Given the description of an element on the screen output the (x, y) to click on. 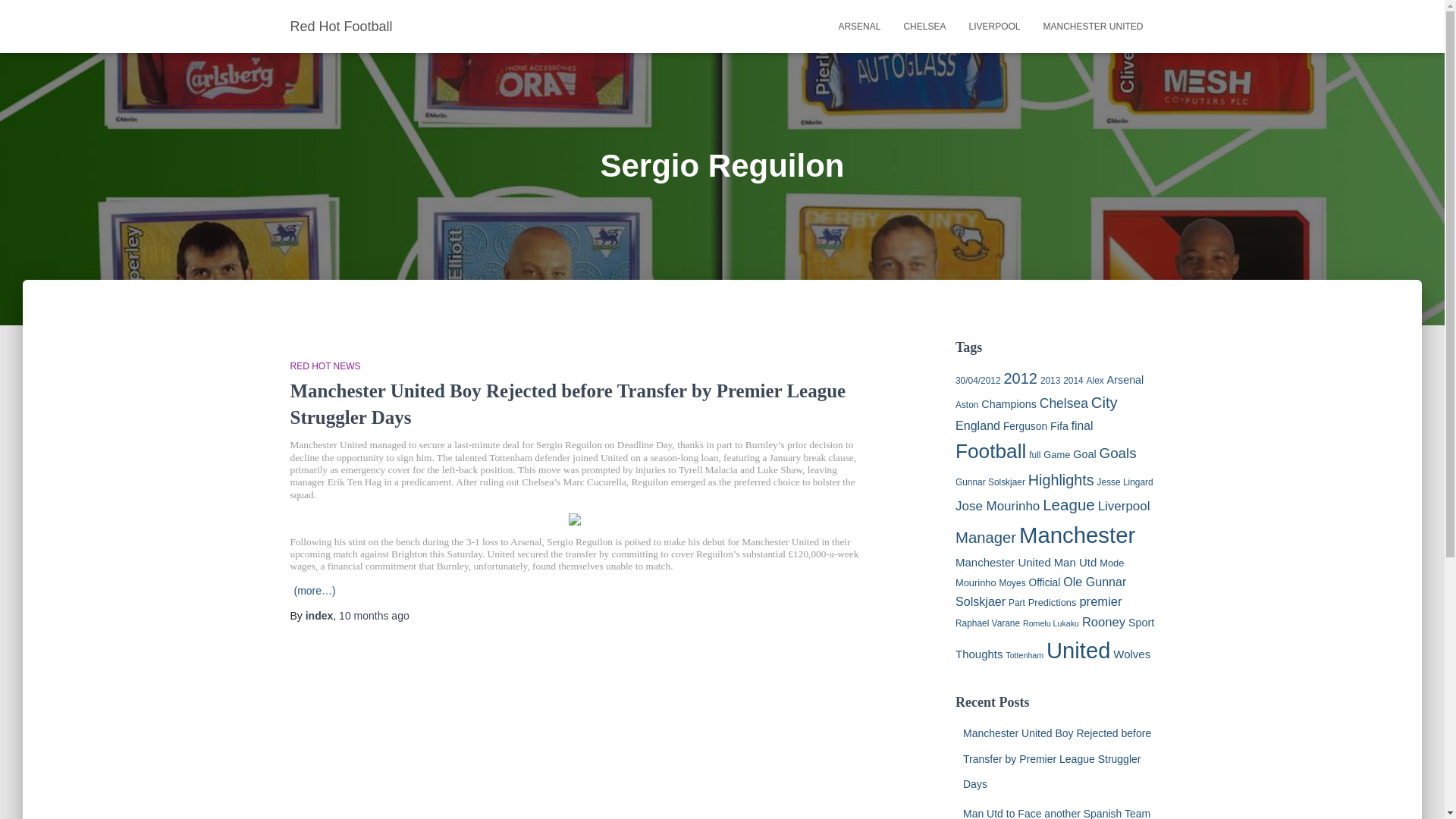
ARSENAL (859, 26)
2013 (1050, 380)
Arsenal (859, 26)
Red Hot Football (341, 26)
Aston (966, 404)
Red Hot Football (341, 26)
Fifa (1058, 426)
Football (990, 450)
Manager (985, 537)
City (1104, 402)
CHELSEA (923, 26)
2012 (1019, 378)
England (977, 425)
Gunnar Solskjaer (990, 481)
